Given the description of an element on the screen output the (x, y) to click on. 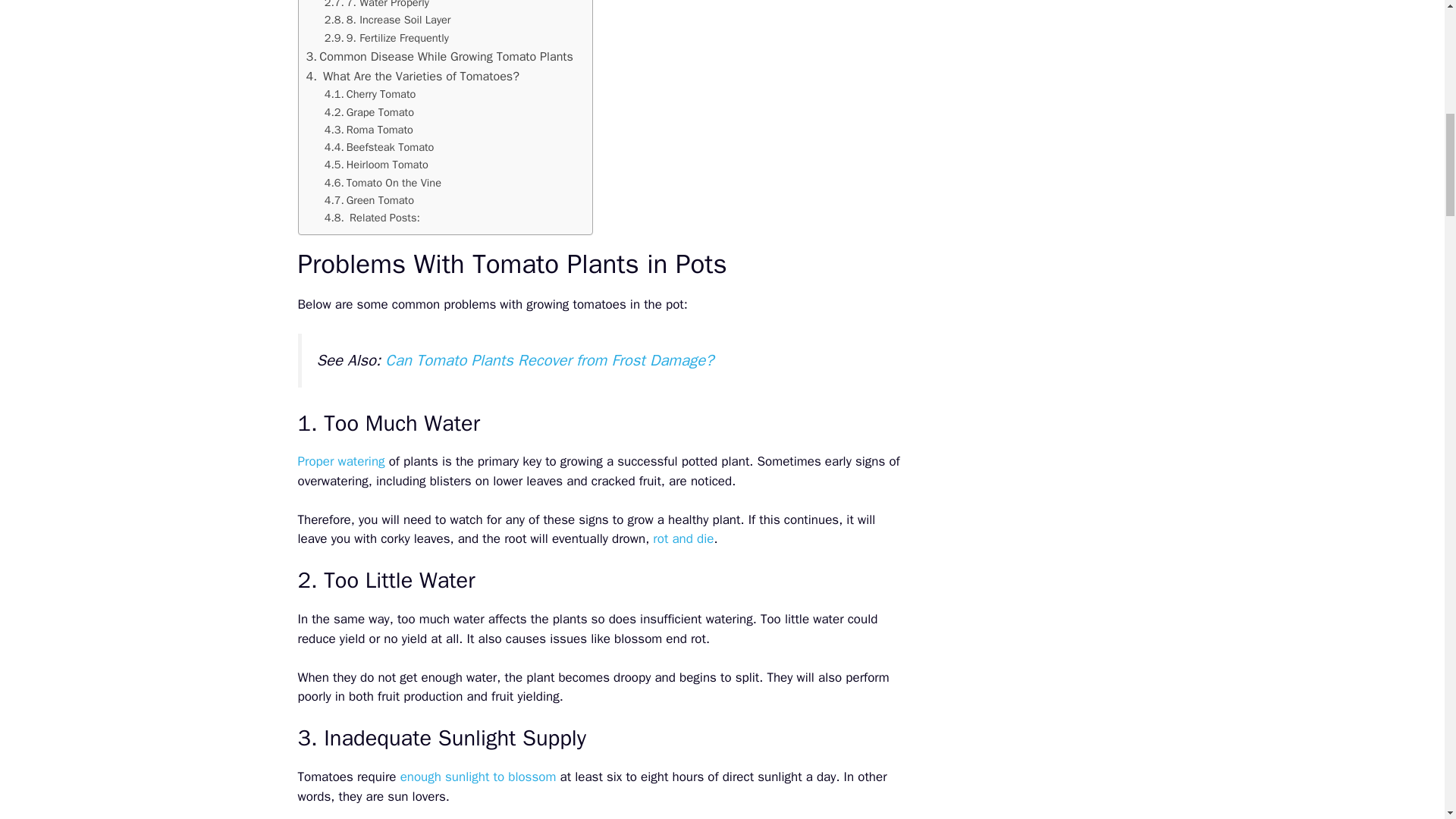
Cherry Tomato (370, 94)
9. Fertilize Frequently  (387, 37)
8. Increase Soil Layer  (389, 19)
 What Are the Varieties of Tomatoes? (412, 76)
Common Disease While Growing Tomato Plants  (440, 56)
7. Water Properly  (378, 5)
